Given the description of an element on the screen output the (x, y) to click on. 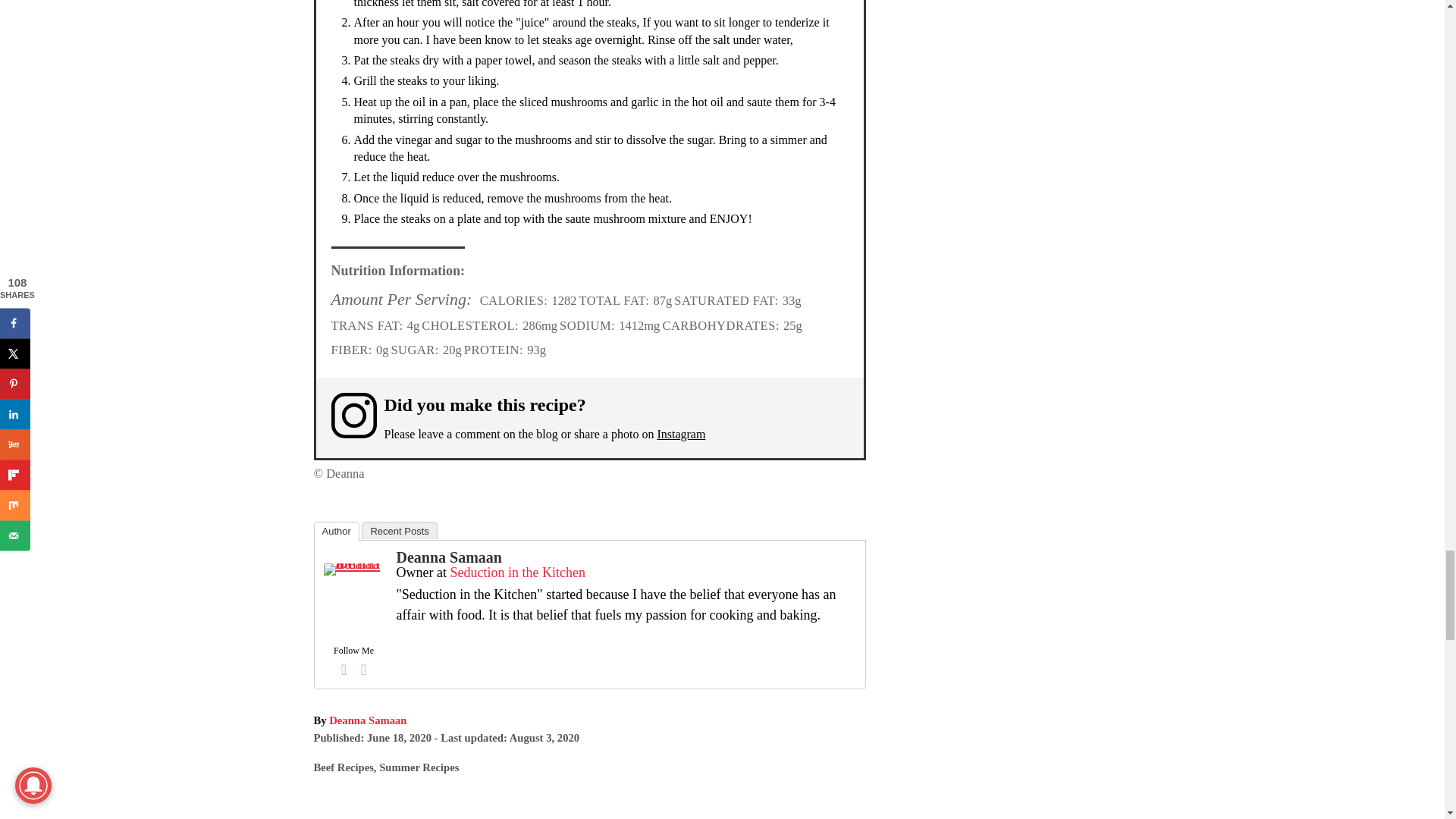
Seduction in the Kitchen (517, 572)
Author (336, 530)
Recent Posts (398, 529)
Instagram (680, 433)
Deanna Samaan (448, 556)
